Given the description of an element on the screen output the (x, y) to click on. 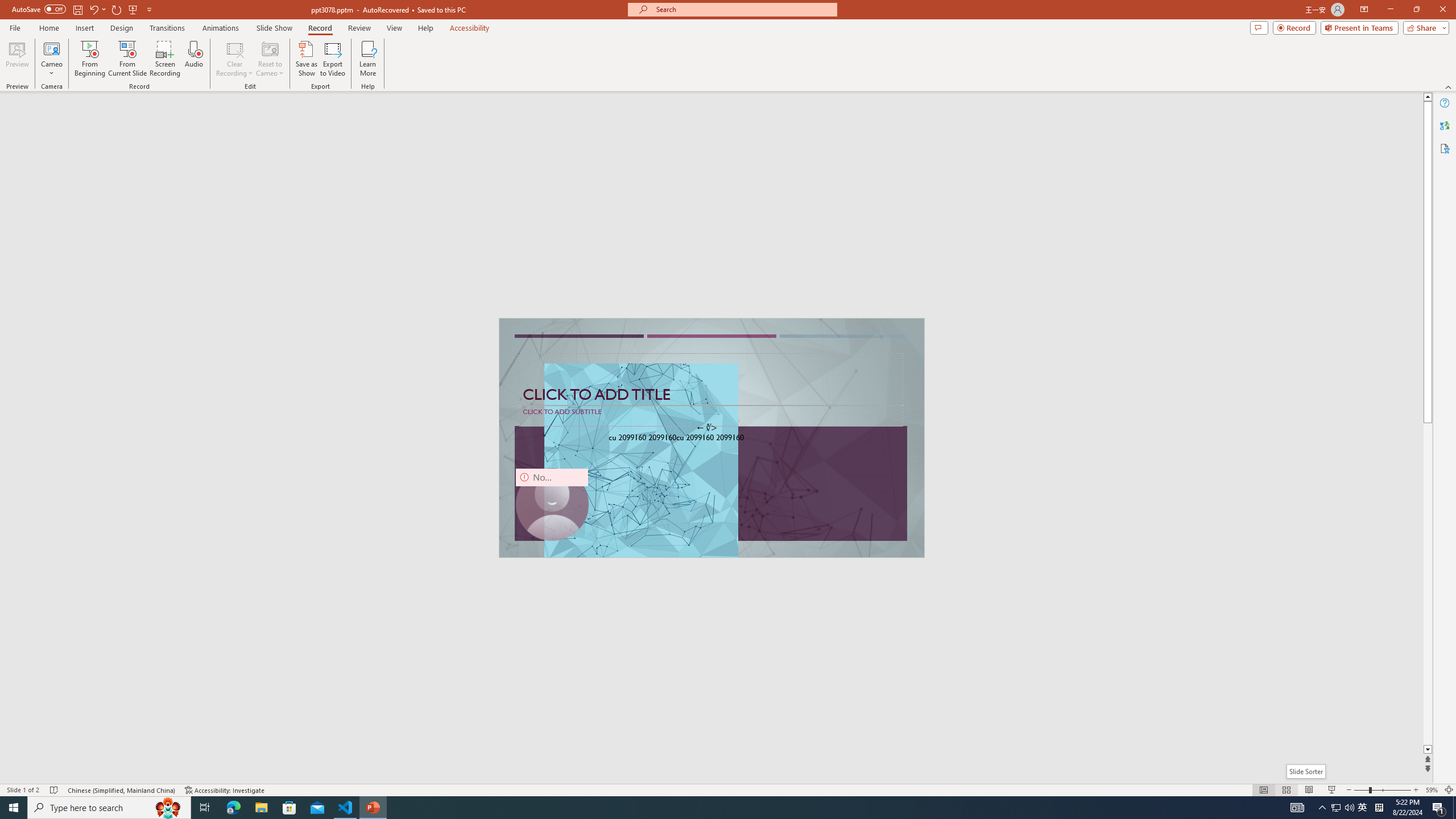
From Beginning... (89, 58)
Audio (193, 58)
Zoom 59% (1431, 790)
Title TextBox (710, 379)
